Given the description of an element on the screen output the (x, y) to click on. 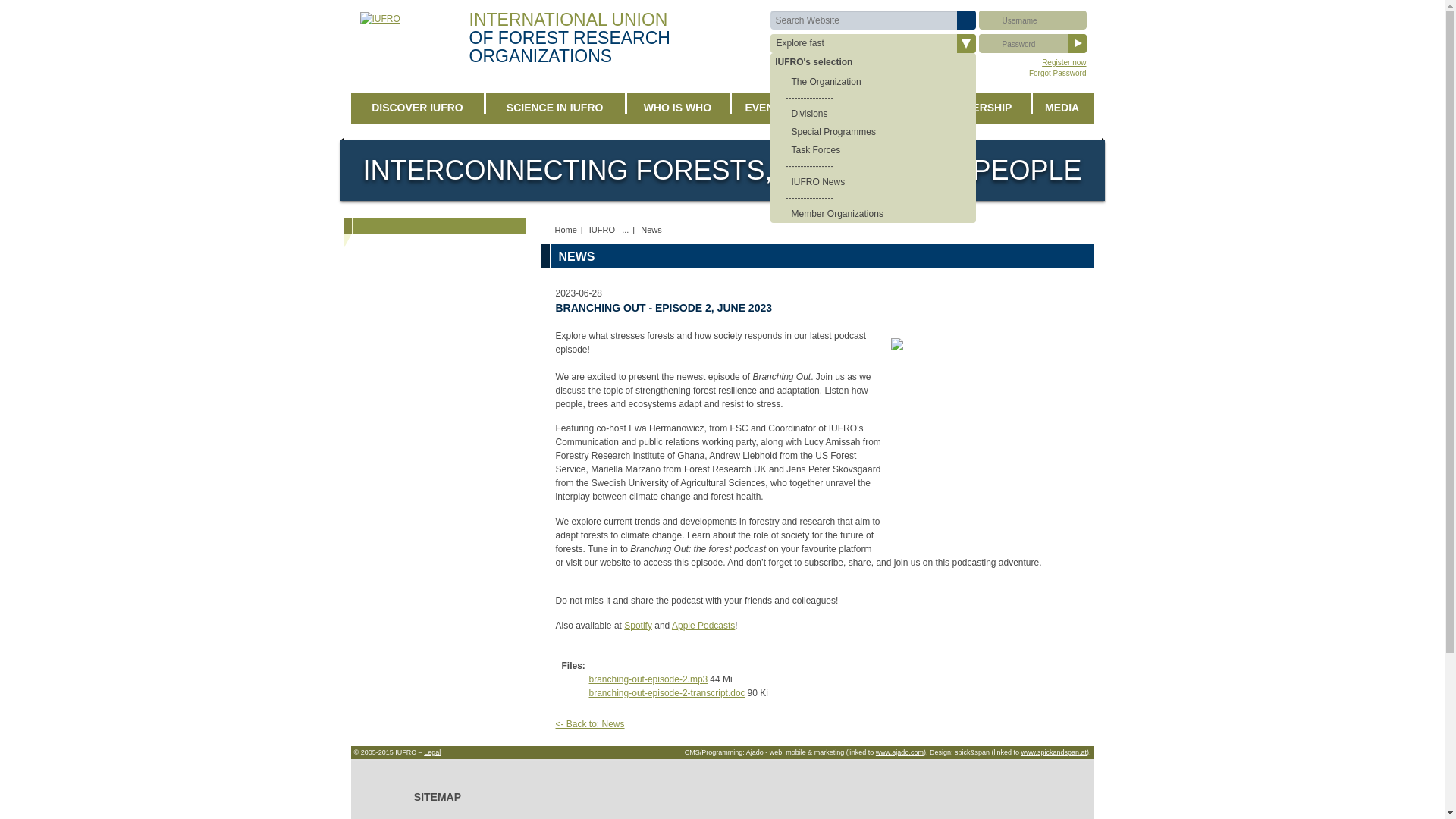
IUFRO Youtube Channel (998, 229)
Sitemap (874, 76)
Submit (965, 19)
Sitemap (874, 76)
IUFRO on Facebook (1056, 229)
Send an E-Mail to IUFRO Headquarters (900, 235)
SCIENCE IN IUFRO (555, 108)
Register now (1064, 62)
DISCOVER IUFRO (417, 108)
Info about IUFRO RSS Feeds (941, 229)
